Given the description of an element on the screen output the (x, y) to click on. 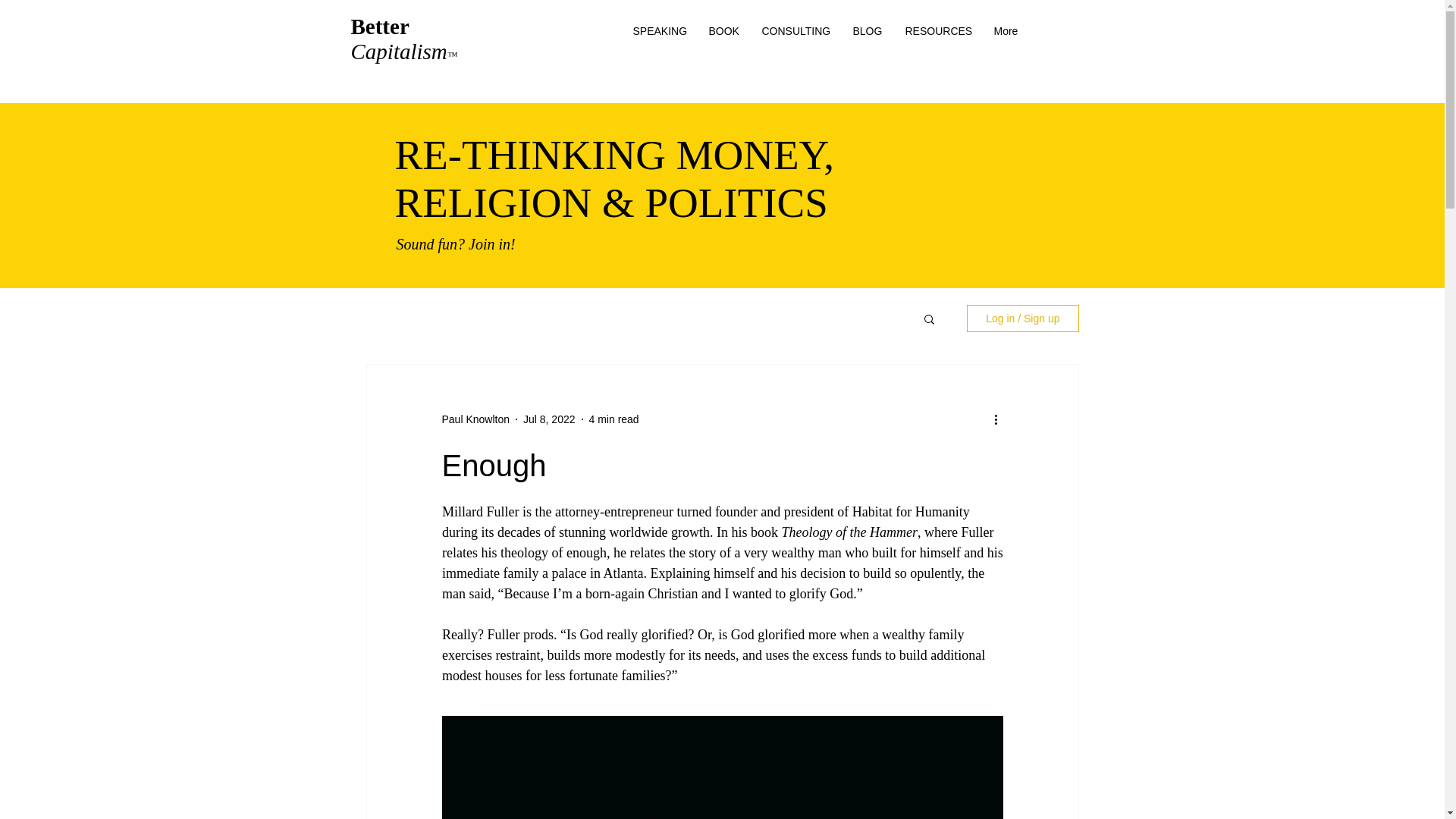
BOOK (724, 30)
4 min read (614, 418)
Paul Knowlton (475, 418)
Paul Knowlton (475, 418)
Jul 8, 2022 (548, 418)
Better  (382, 26)
CONSULTING (796, 30)
BLOG (867, 30)
SPEAKING (659, 30)
